Given the description of an element on the screen output the (x, y) to click on. 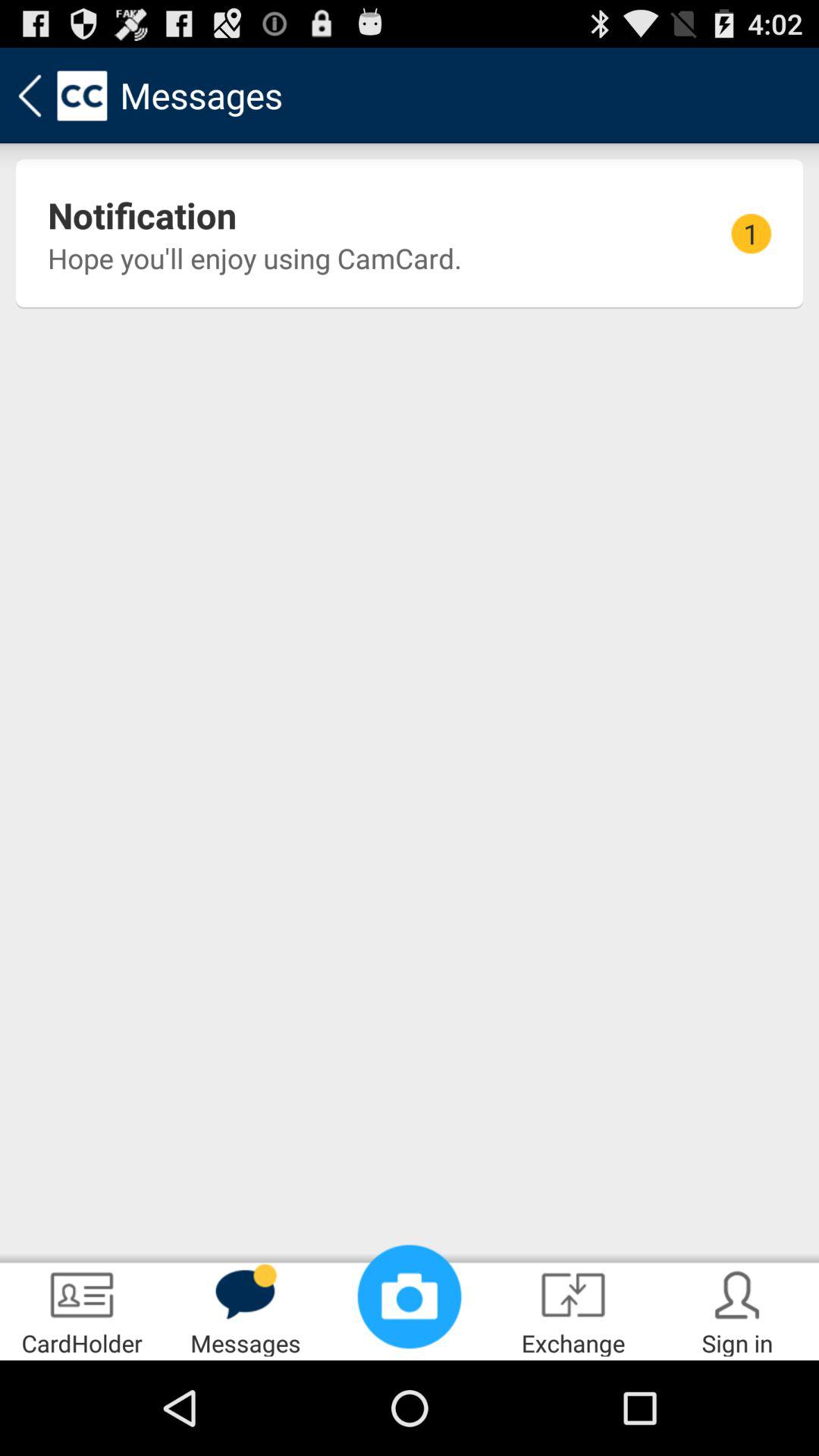
select the icon next to 1 item (254, 257)
